Given the description of an element on the screen output the (x, y) to click on. 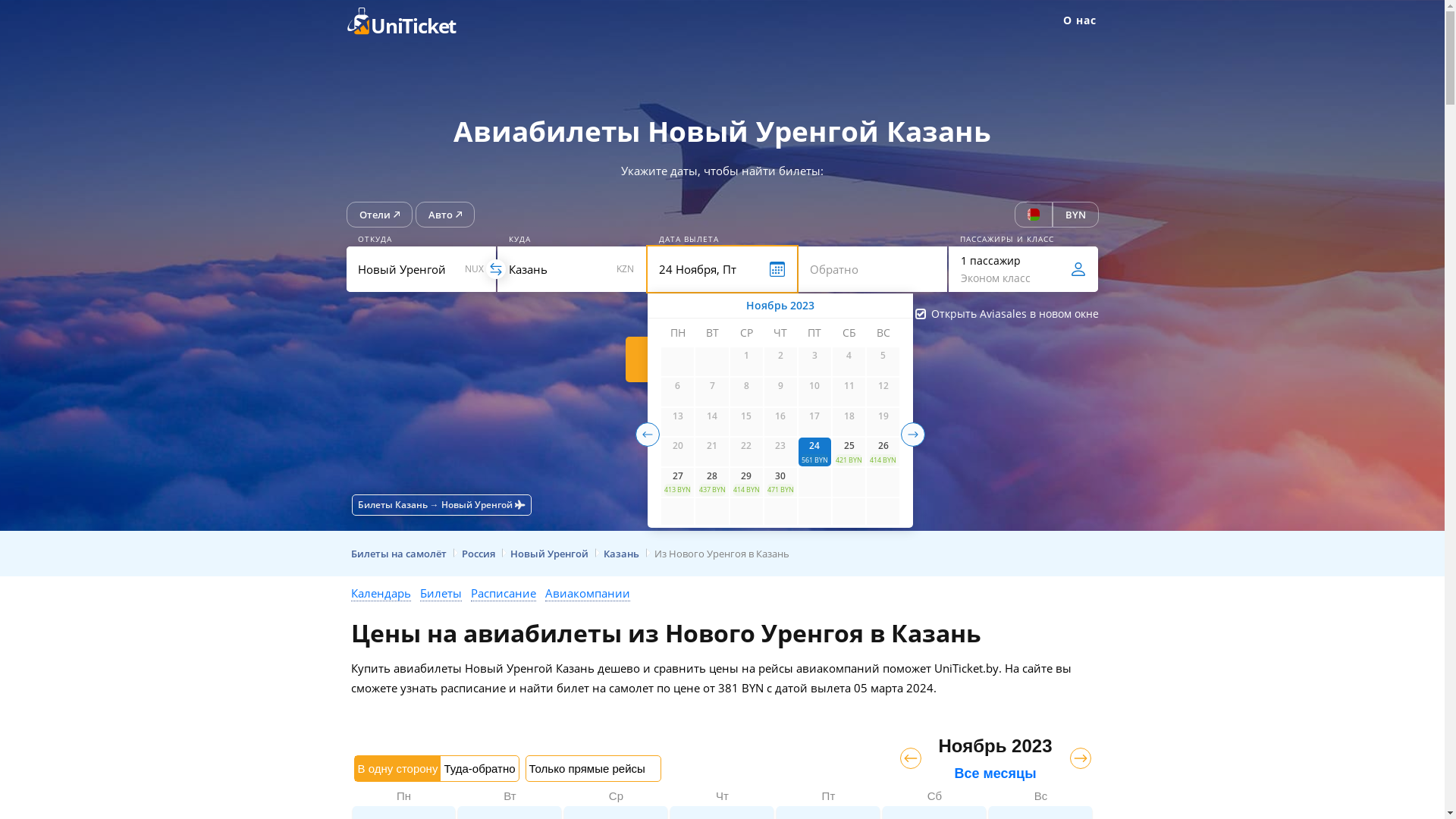
UniTicket Element type: text (410, 20)
